Given the description of an element on the screen output the (x, y) to click on. 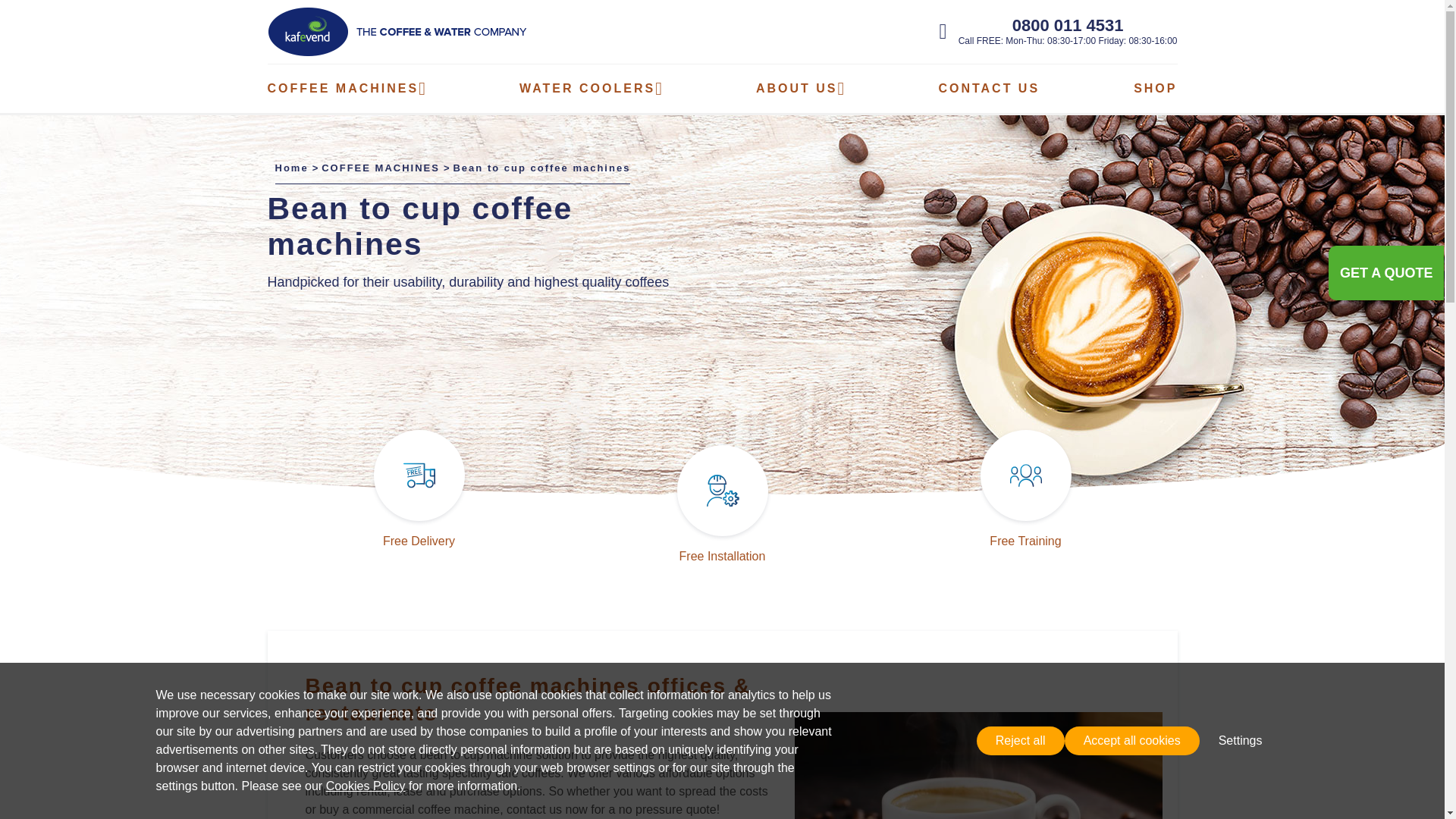
COFFEE MACHINES (380, 167)
Bean to Cup Office Coffee Machines (977, 765)
SHOP (1155, 88)
Home (291, 167)
CONTACT US (988, 88)
0800 011 4531 (1067, 25)
